Given the description of an element on the screen output the (x, y) to click on. 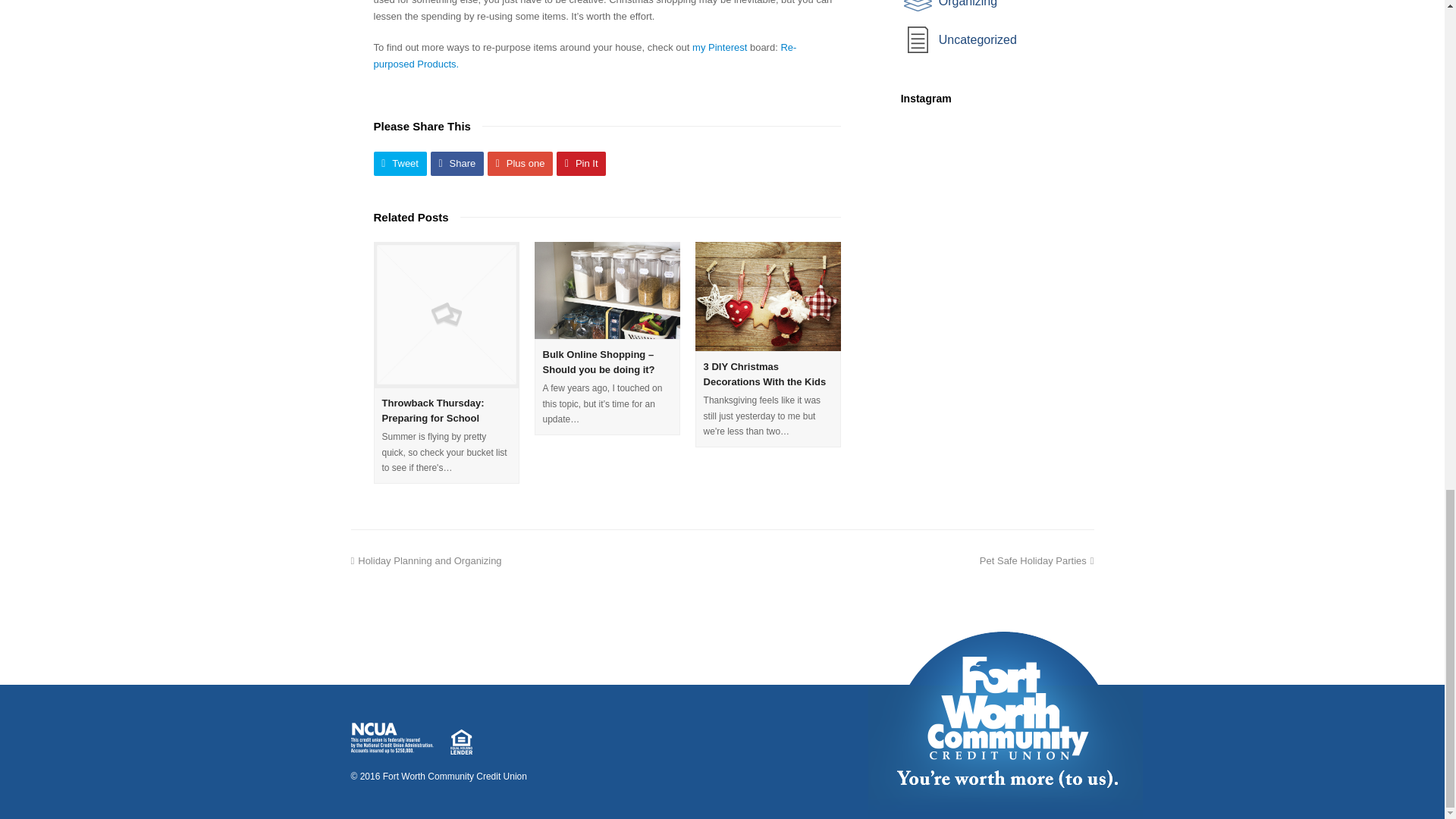
Pin It (580, 163)
Re-purposed Products.  (584, 54)
Tweet (399, 163)
Share on Pinterest (580, 163)
my Pinterest (719, 47)
Throwback Thursday: Preparing for School (432, 410)
Share (456, 163)
3 DIY Christmas Decorations With the Kids (765, 374)
Share on Facebook (456, 163)
3 DIY Christmas Decorations With the Kids (765, 374)
Throwback Thursday: Preparing for School (445, 314)
3 DIY Christmas Decorations With the Kids (768, 296)
Plus one (520, 163)
Throwback Thursday: Preparing for School (432, 410)
Share on Twitter (399, 163)
